Given the description of an element on the screen output the (x, y) to click on. 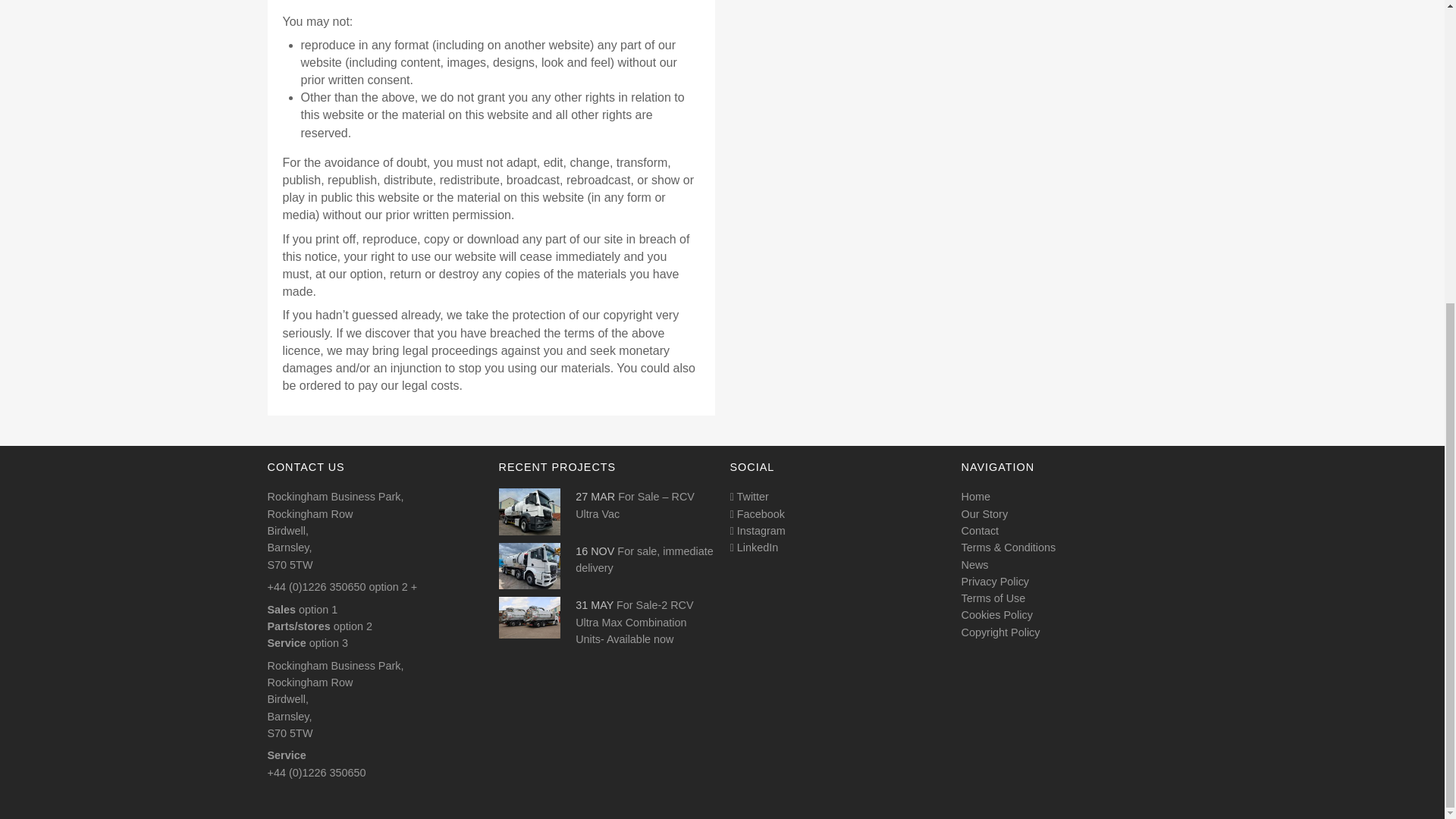
Privacy Policy (994, 581)
News (974, 564)
Cookies Policy (996, 614)
Terms of Use (993, 598)
Twitter (748, 496)
Facebook (756, 513)
Instagram (756, 530)
Copyright Policy (1000, 632)
For sale, immediate delivery    (644, 559)
Home (975, 496)
Our Story (984, 513)
For Sale-2 RCV Ultra Max Combination Units- Available now (634, 621)
LinkedIn (753, 547)
Contact (979, 530)
